Given the description of an element on the screen output the (x, y) to click on. 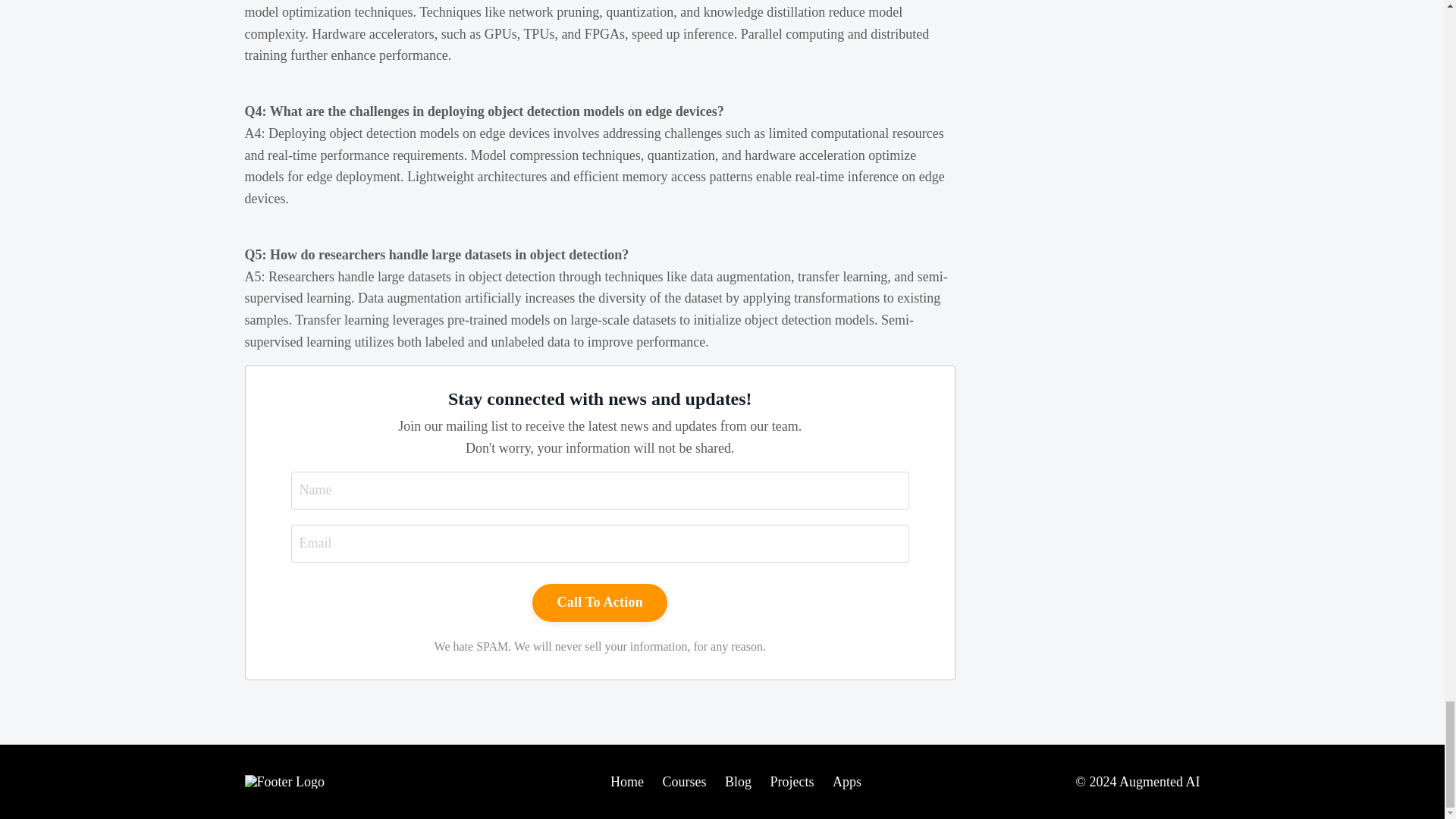
Call To Action (599, 602)
Call To Action (599, 602)
